Given the description of an element on the screen output the (x, y) to click on. 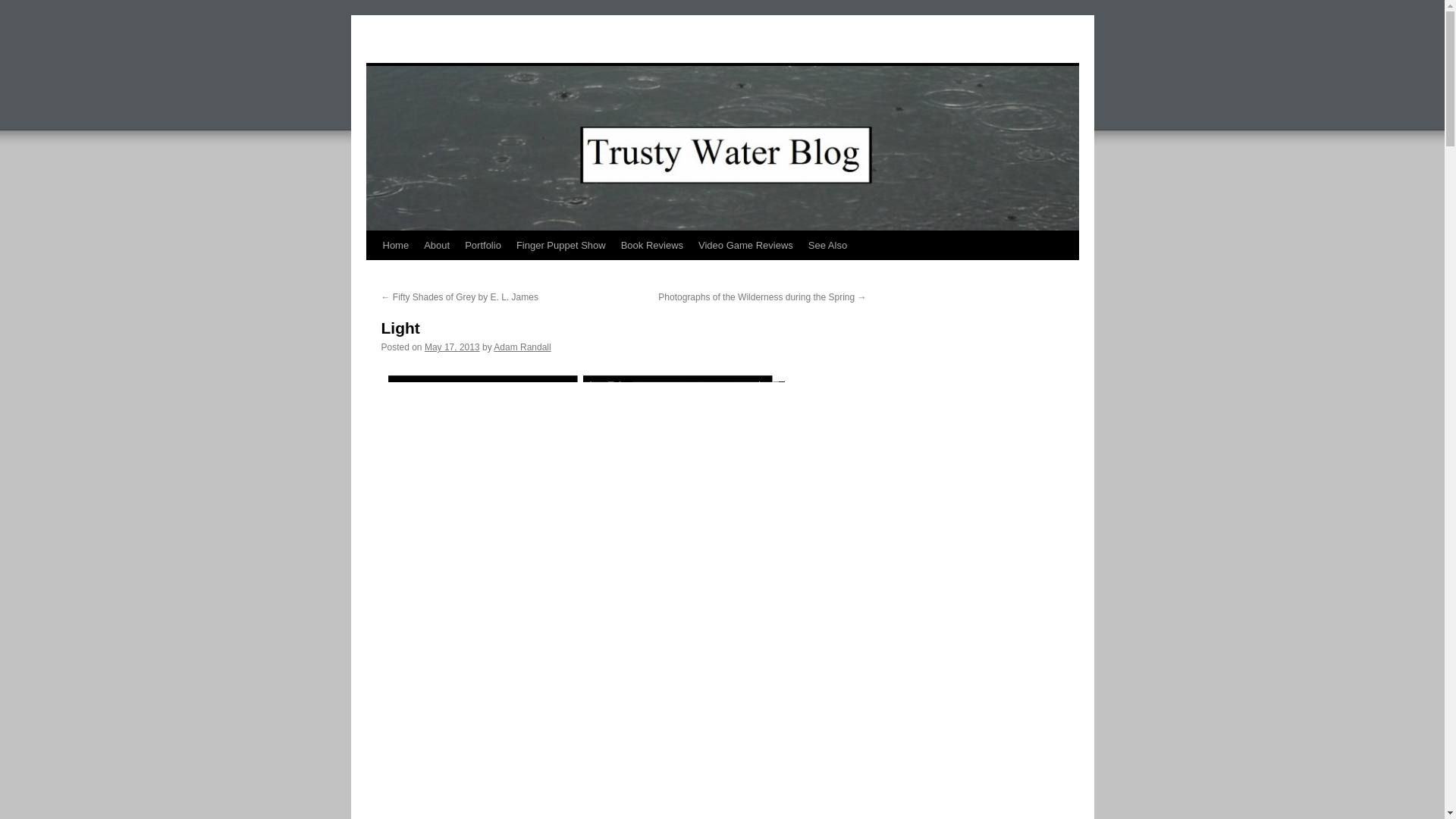
Adam Randall (521, 347)
Home (395, 245)
About (436, 245)
Skip to content (372, 273)
Video Game Reviews (745, 245)
Book Reviews (651, 245)
View all posts by Adam Randall (521, 347)
Finger Puppet Show (560, 245)
May 17, 2013 (452, 347)
6:55 pm (452, 347)
Portfolio (482, 245)
See Also (827, 245)
